Given the description of an element on the screen output the (x, y) to click on. 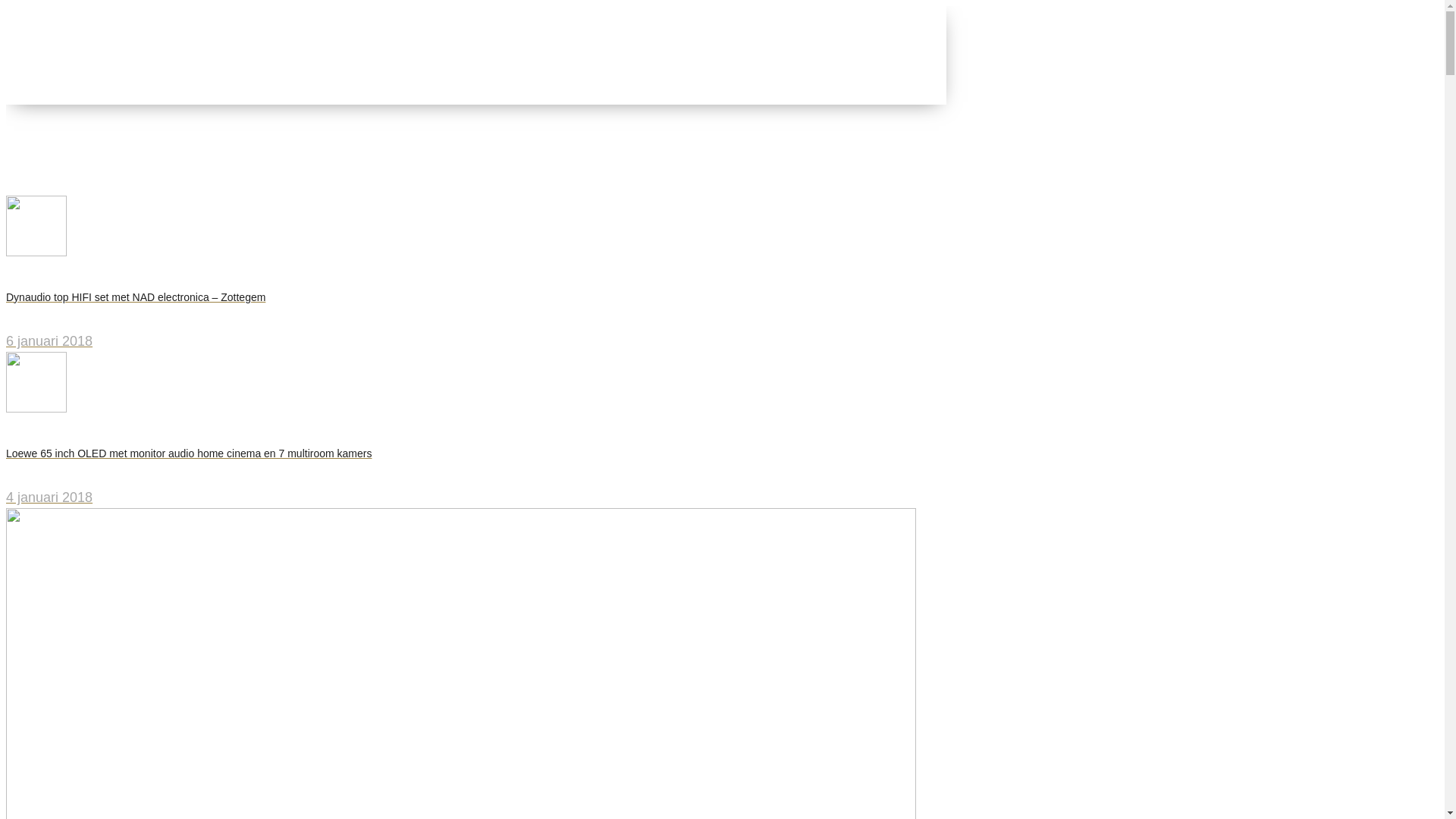
Home Element type: text (54, 150)
Maatmeubel met sonos playbar en Samsung Qled Element type: text (187, 170)
